Given the description of an element on the screen output the (x, y) to click on. 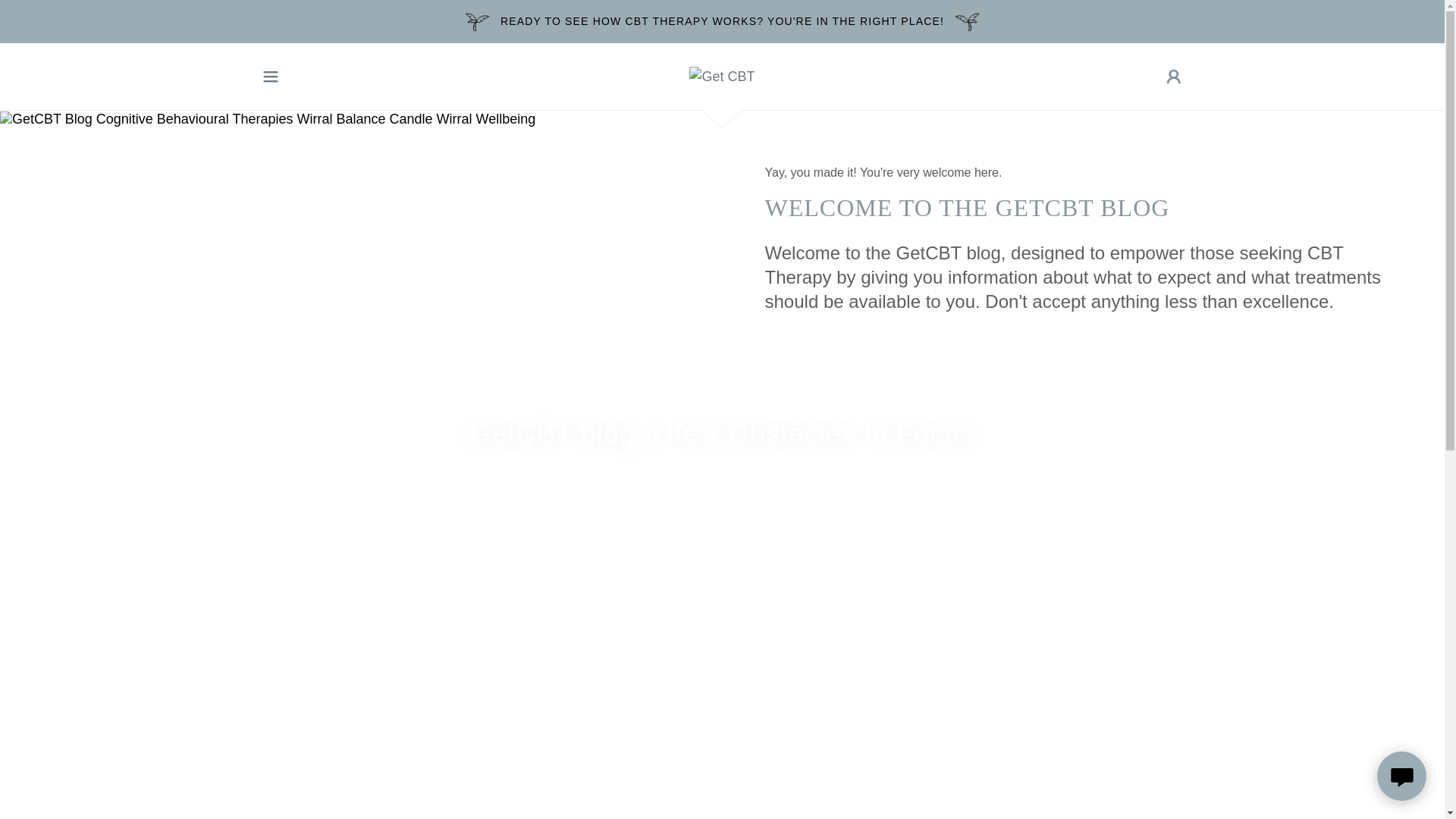
Get CBT (721, 75)
